Given the description of an element on the screen output the (x, y) to click on. 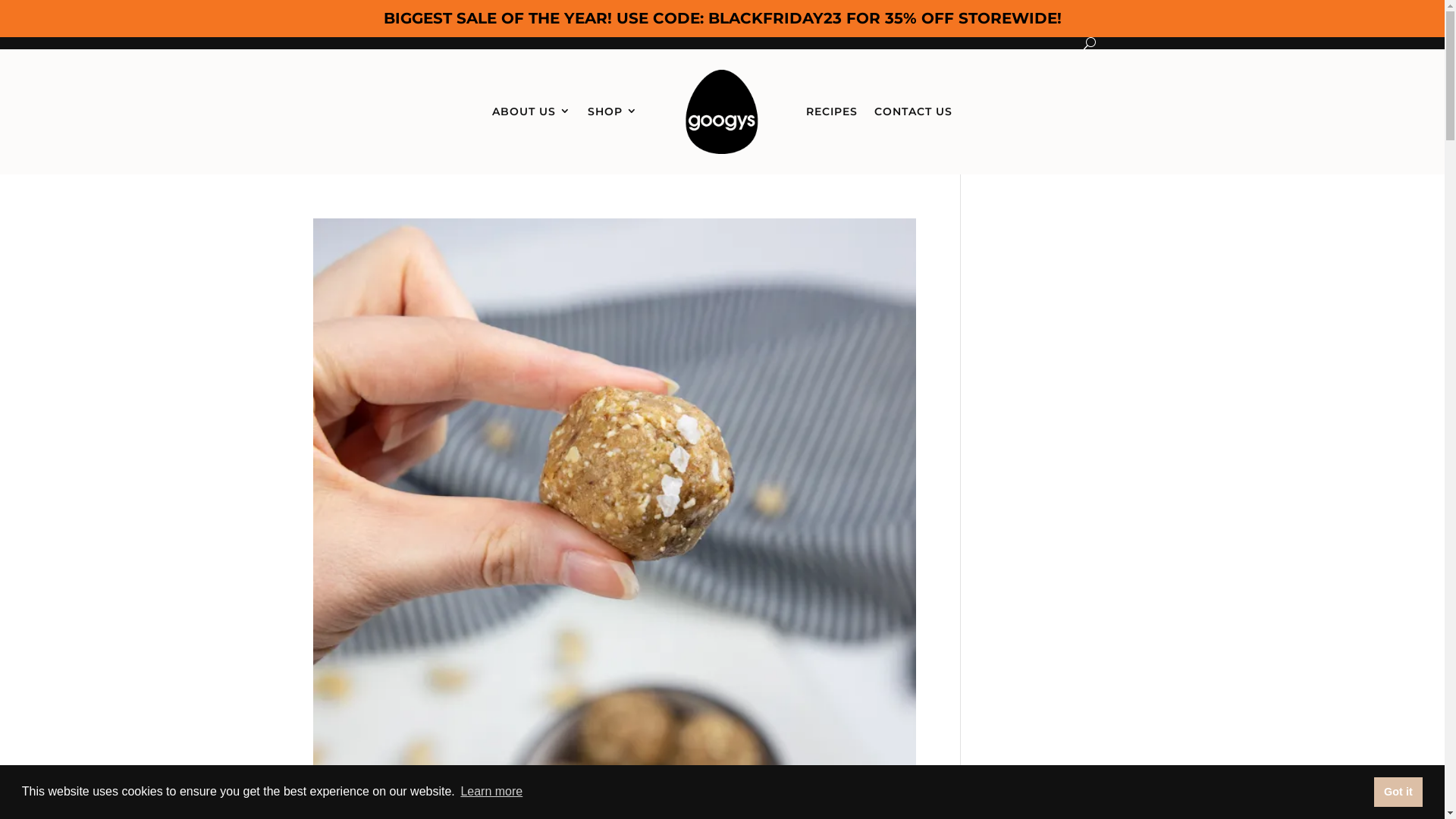
Got it Element type: text (1398, 791)
SHOP Element type: text (612, 111)
ABOUT US Element type: text (531, 111)
Learn more Element type: text (491, 791)
RECIPES Element type: text (831, 111)
CONTACT US Element type: text (913, 111)
